Given the description of an element on the screen output the (x, y) to click on. 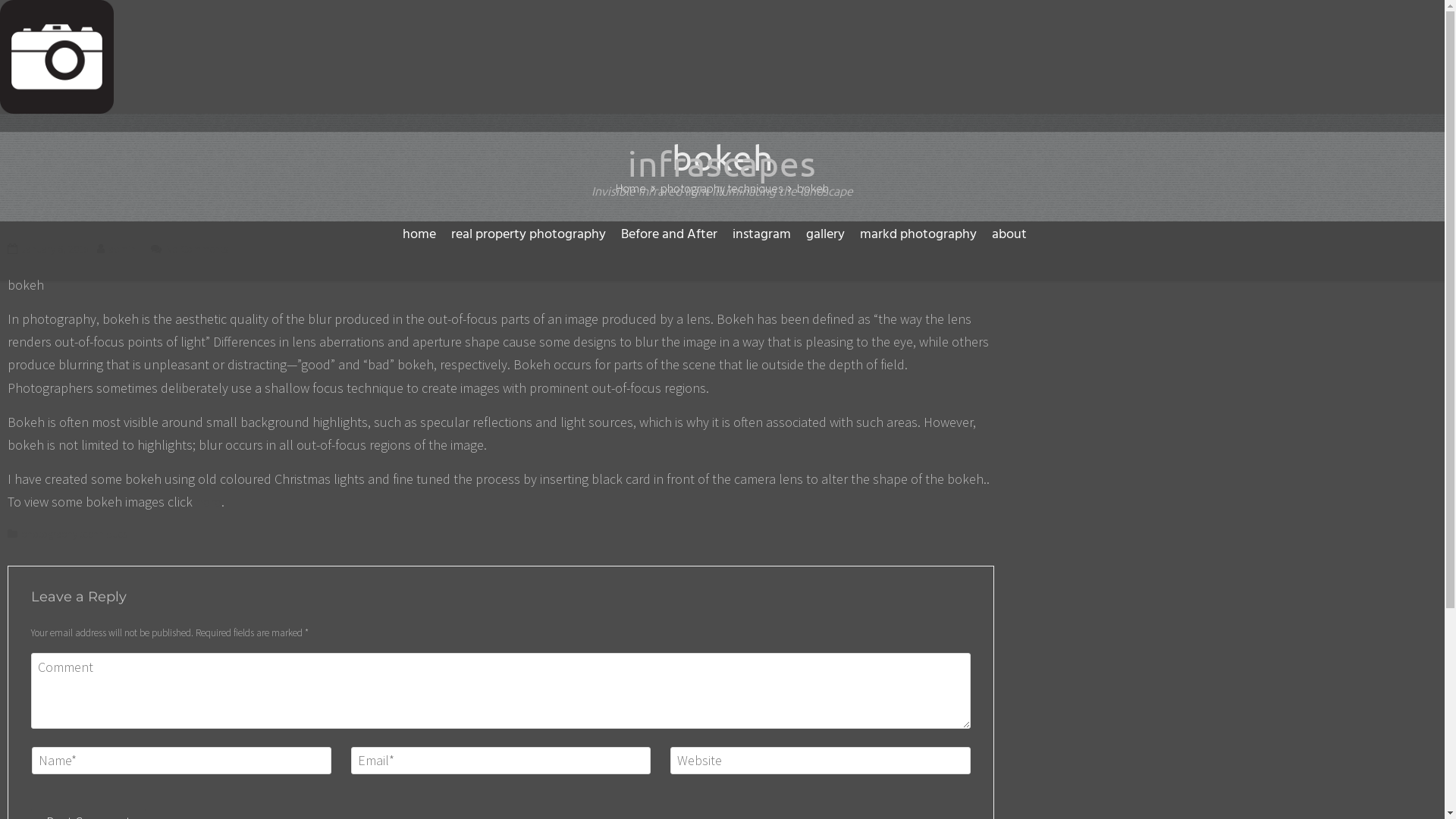
photography techniques Element type: text (74, 533)
instagram Element type: text (761, 234)
infrascapes Element type: text (721, 162)
Search Element type: text (813, 315)
photography techniques Element type: text (721, 187)
here Element type: text (208, 501)
Home Element type: text (630, 187)
January 6, 2015 Element type: text (55, 248)
admin Element type: text (121, 248)
Before and After Element type: text (669, 234)
markd photography Element type: text (917, 234)
home Element type: text (419, 234)
Search Element type: text (34, 13)
real property photography Element type: text (528, 234)
gallery Element type: text (825, 234)
No Comments Element type: text (196, 248)
about Element type: text (1008, 234)
